Given the description of an element on the screen output the (x, y) to click on. 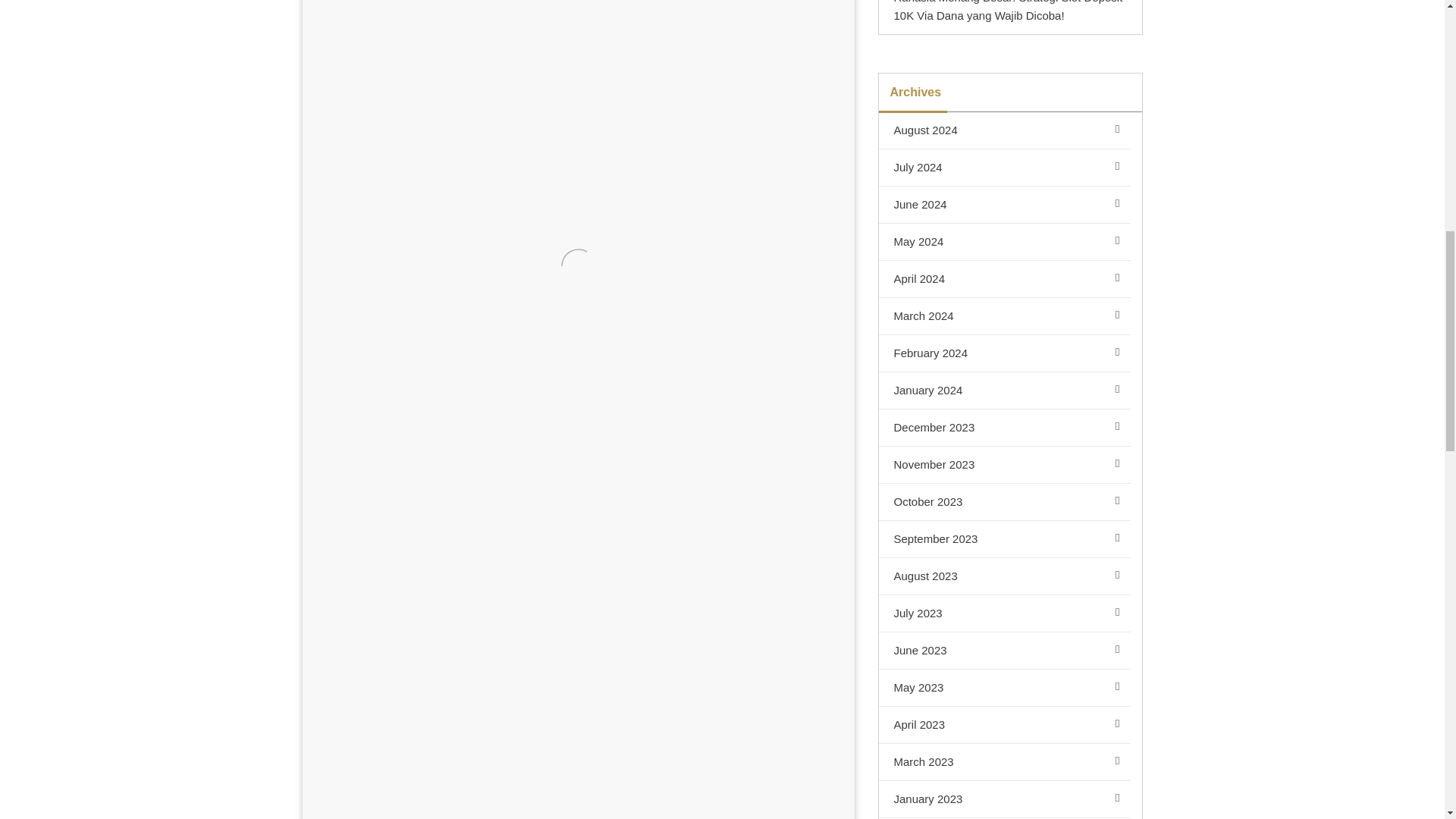
May 2023 (1004, 687)
October 2023 (1004, 502)
November 2023 (1004, 465)
June 2023 (1004, 650)
September 2023 (1004, 538)
judi bola (547, 582)
June 2024 (1004, 204)
April 2023 (1004, 724)
April 2024 (1004, 279)
January 2023 (1004, 799)
